Given the description of an element on the screen output the (x, y) to click on. 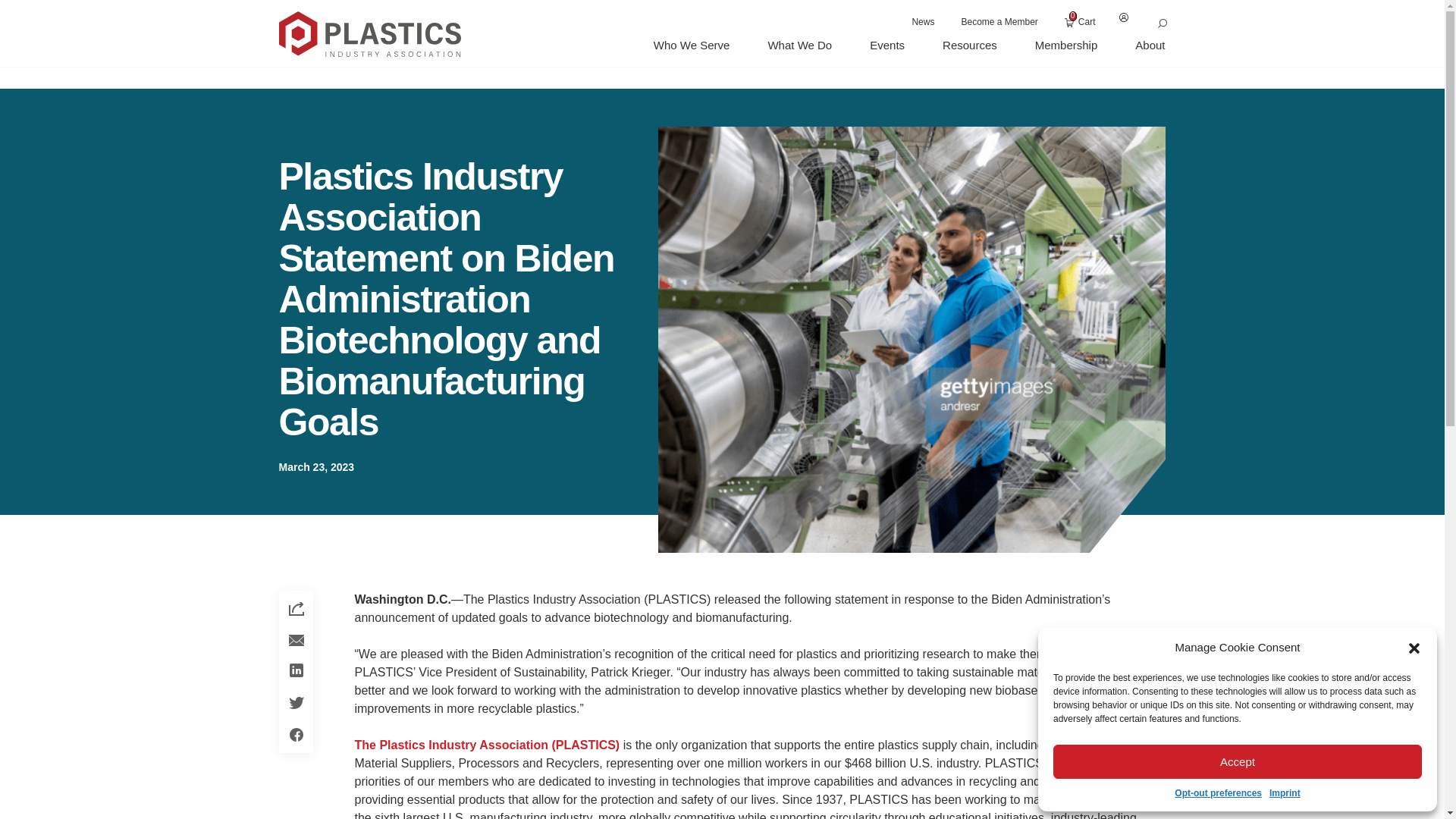
Cart (1080, 21)
Who We Serve (692, 44)
What We Do (800, 44)
Twitter (295, 701)
Accept (1237, 761)
Imprint (1284, 793)
Opt-out preferences (1218, 793)
Search (1163, 22)
Copy Link (295, 609)
News (923, 21)
Become a Member (999, 21)
Linkedin (295, 670)
Email (295, 639)
